Given the description of an element on the screen output the (x, y) to click on. 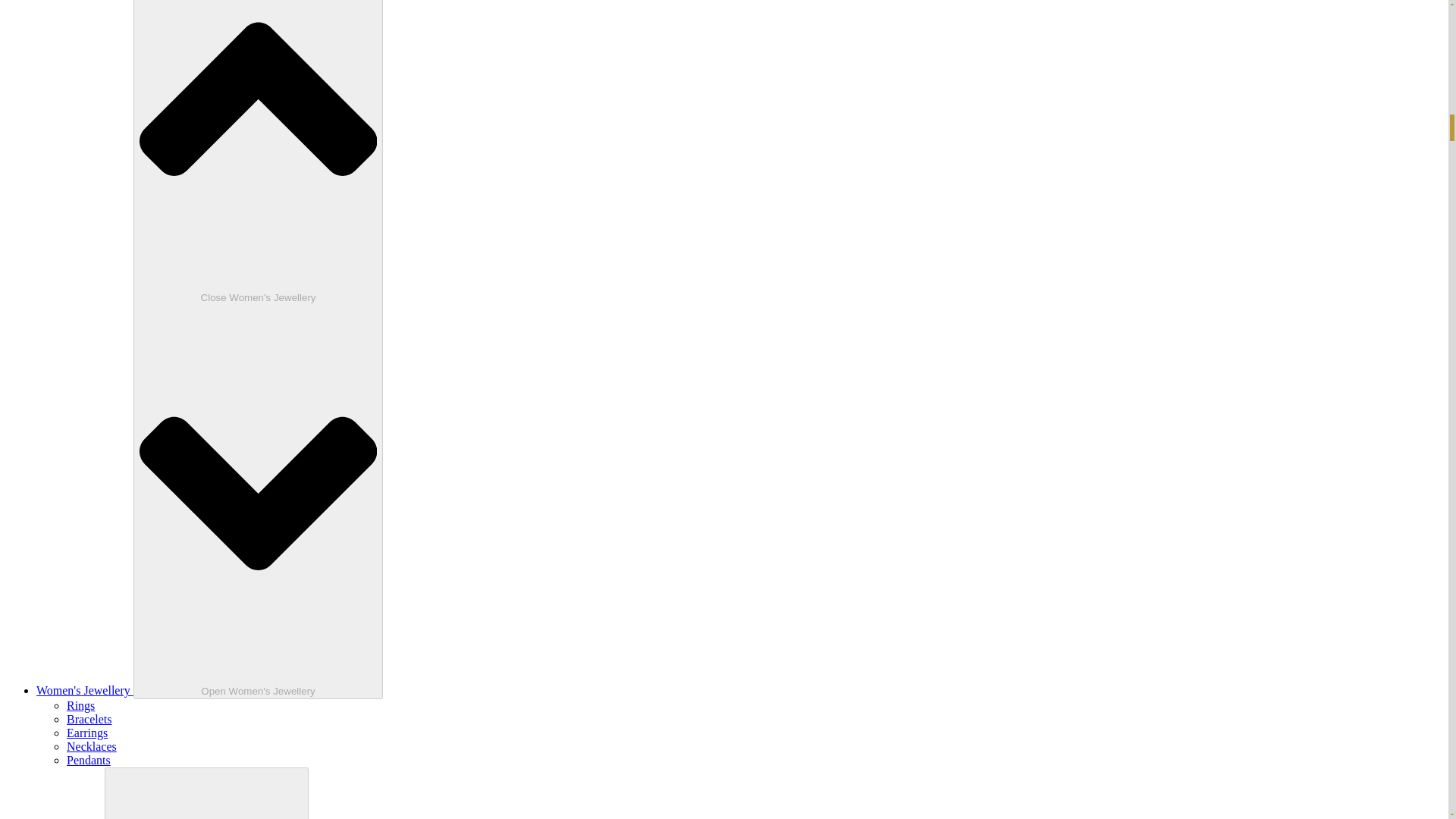
Close Georg Jensen Open Georg Jensen (206, 793)
Rings (80, 705)
Bracelets (89, 718)
Necklaces (91, 746)
Pendants (88, 759)
Women's Jewellery (84, 689)
Earrings (86, 732)
